Given the description of an element on the screen output the (x, y) to click on. 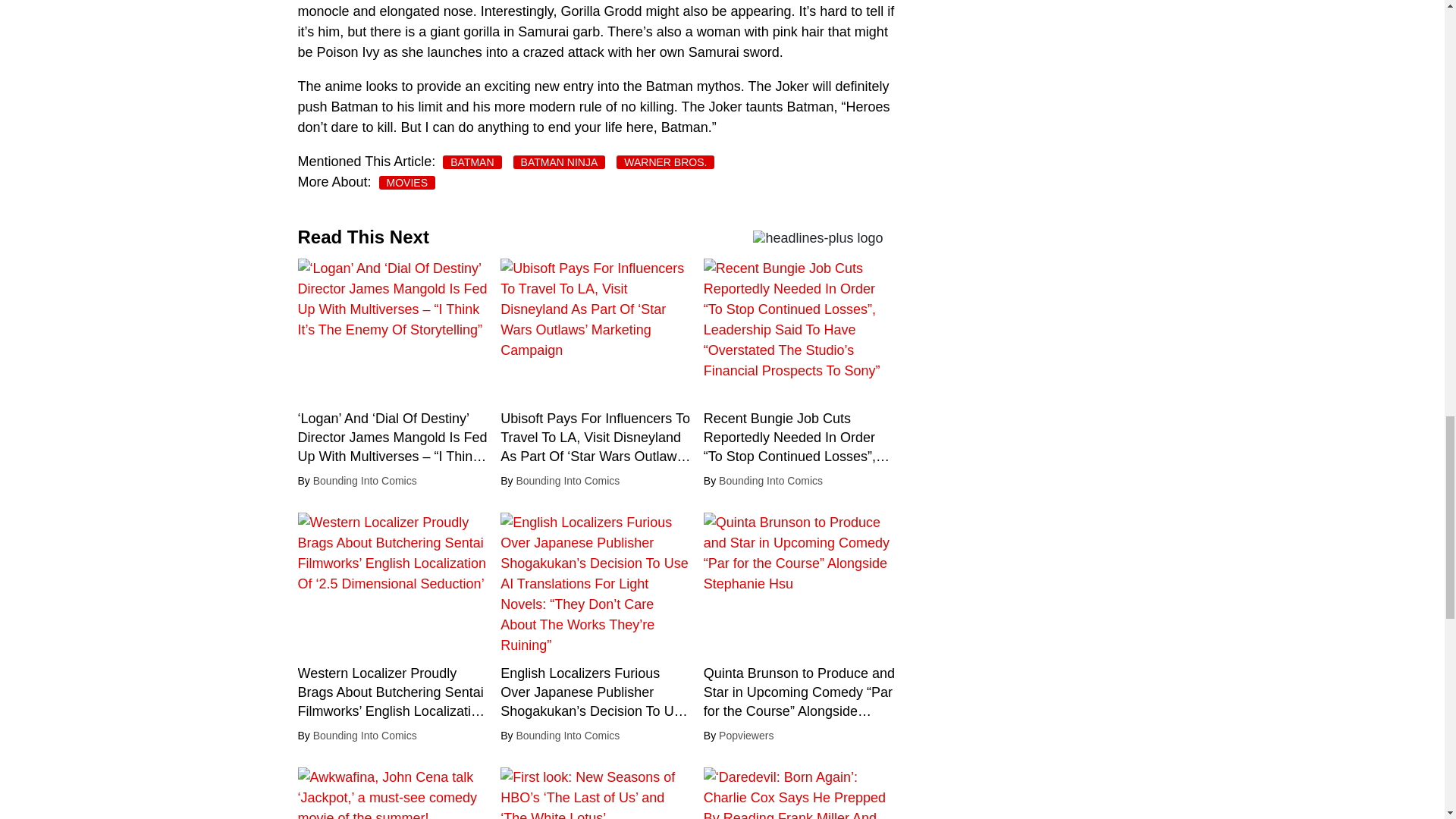
BATMAN (471, 161)
